Given the description of an element on the screen output the (x, y) to click on. 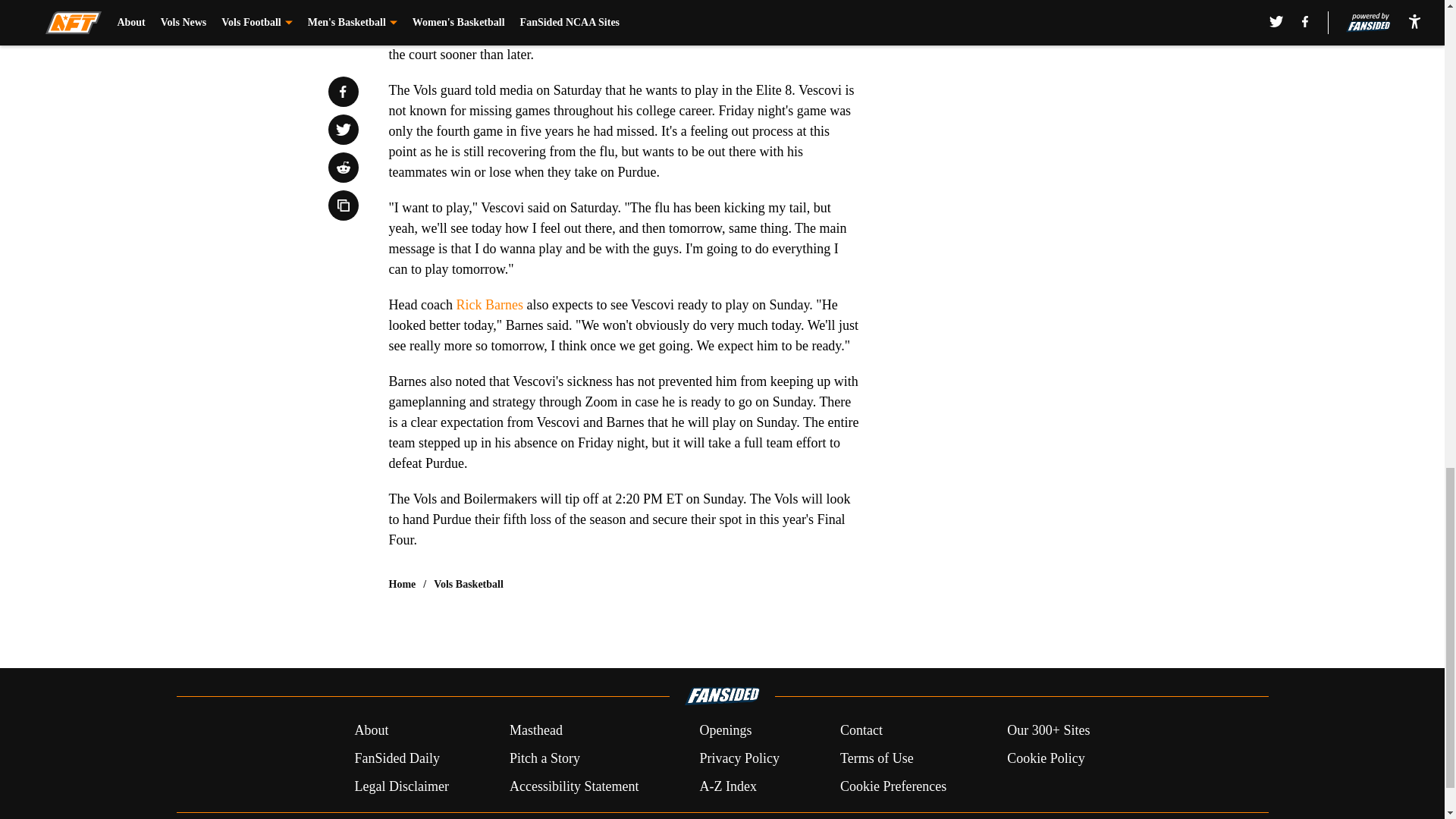
Terms of Use (877, 758)
Jahmai Mashack (601, 13)
Masthead (535, 730)
Openings (724, 730)
Home (401, 584)
A-Z Index (726, 786)
Contact (861, 730)
About (370, 730)
Accessibility Statement (574, 786)
Rick Barnes (488, 304)
Legal Disclaimer (400, 786)
Pitch a Story (544, 758)
Cookie Policy (1045, 758)
FanSided Daily (396, 758)
